Given the description of an element on the screen output the (x, y) to click on. 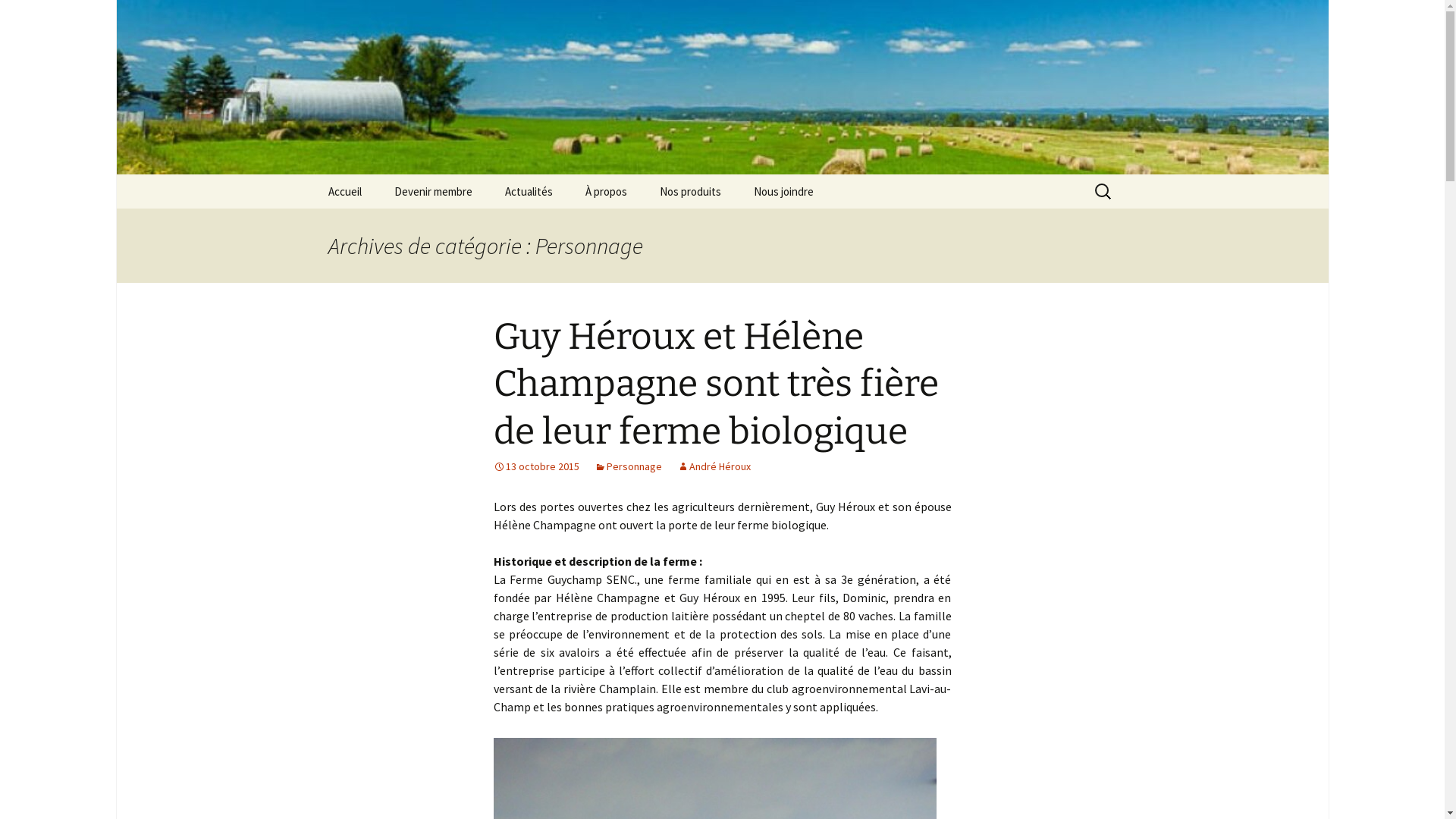
Accueil Element type: text (344, 191)
13 octobre 2015 Element type: text (535, 466)
Nous joindre Element type: text (783, 191)
Devenir membre Element type: text (433, 191)
Aller au contenu Element type: text (312, 173)
Nos produits Element type: text (690, 191)
Rechercher Element type: text (44, 15)
Personnage Element type: text (628, 466)
Rechercher Element type: text (18, 16)
